Given the description of an element on the screen output the (x, y) to click on. 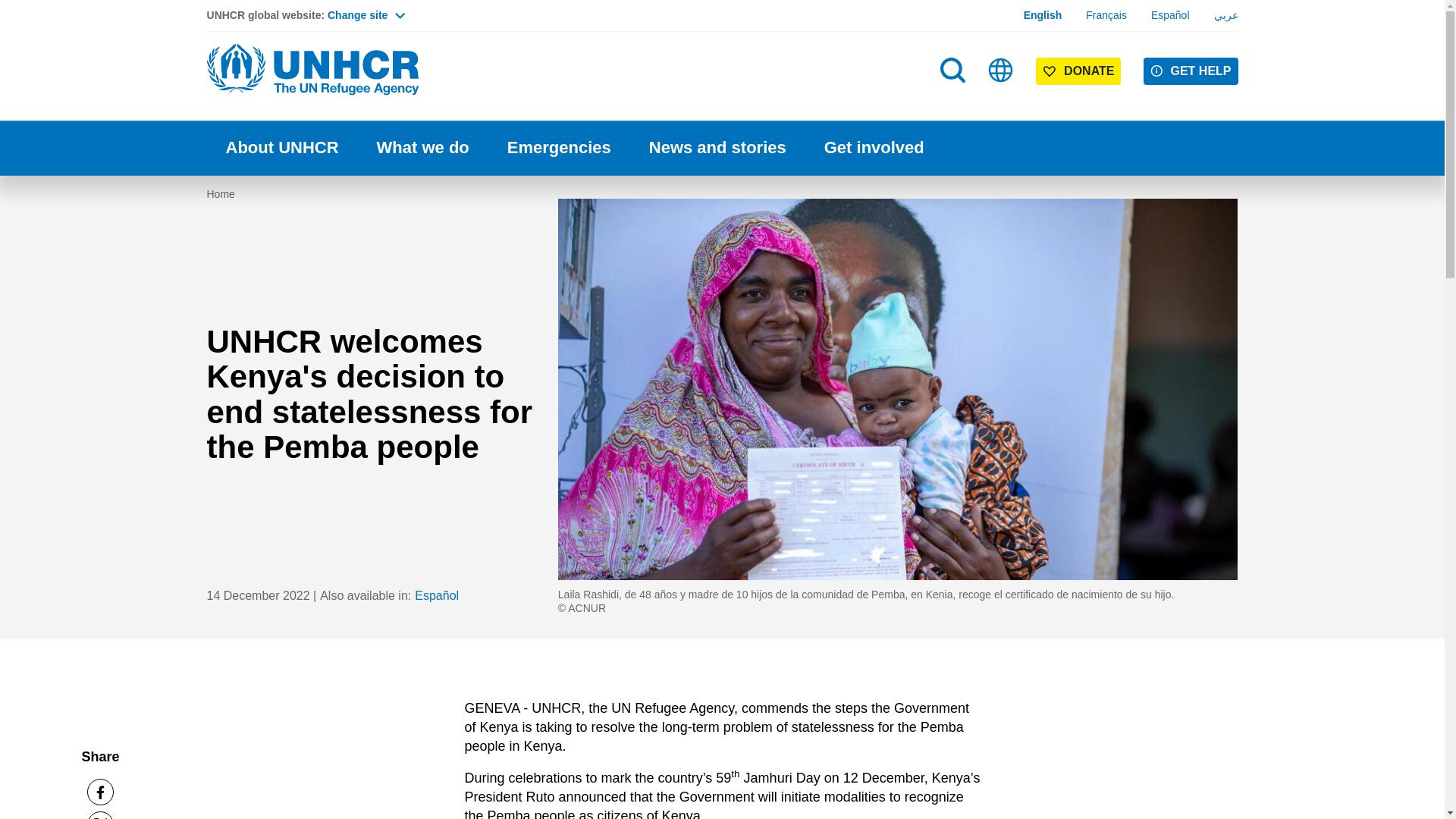
Skip to main content (721, 1)
About UNHCR (281, 148)
DONATE (1078, 71)
Change site (365, 15)
Home (312, 69)
English (1042, 15)
GET HELP (1189, 71)
Search (954, 99)
Search (952, 69)
Sites (1000, 69)
